Given the description of an element on the screen output the (x, y) to click on. 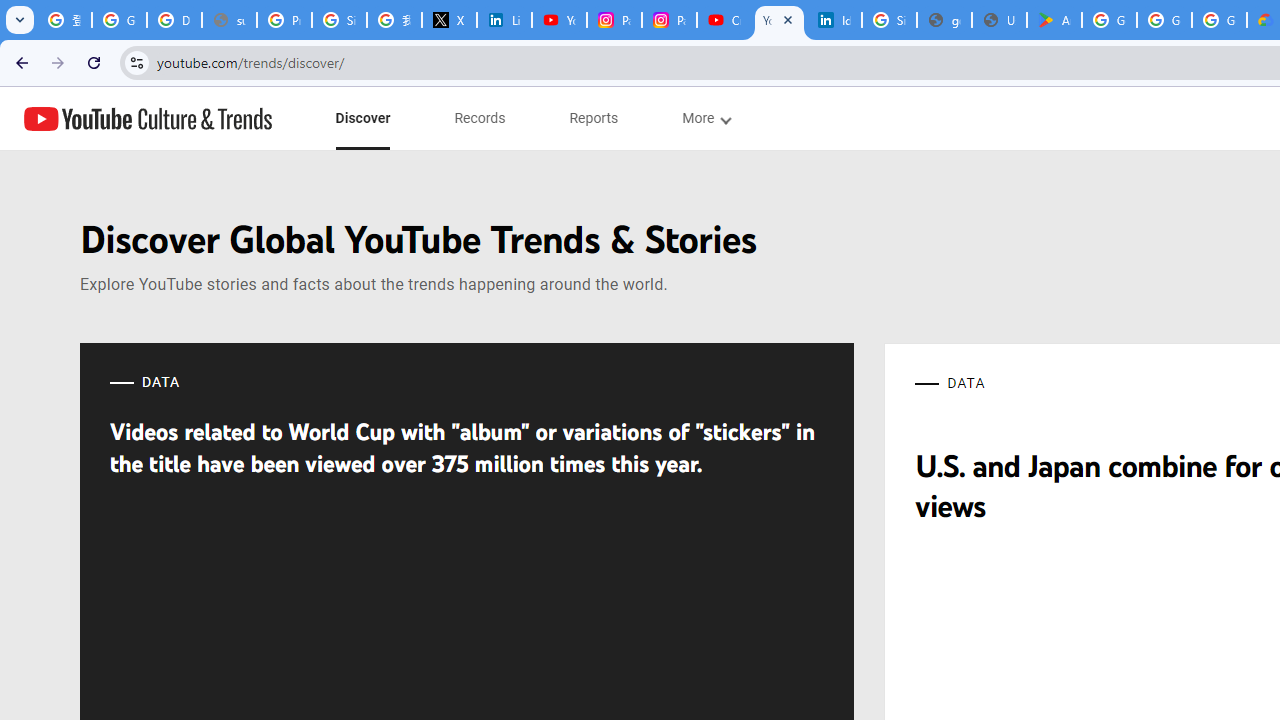
Google Workspace - Specific Terms (1163, 20)
subnav-More menupopup (706, 118)
User Details (998, 20)
subnav-Reports menupopup (594, 118)
YouTube Culture & Trends (147, 118)
